Given the description of an element on the screen output the (x, y) to click on. 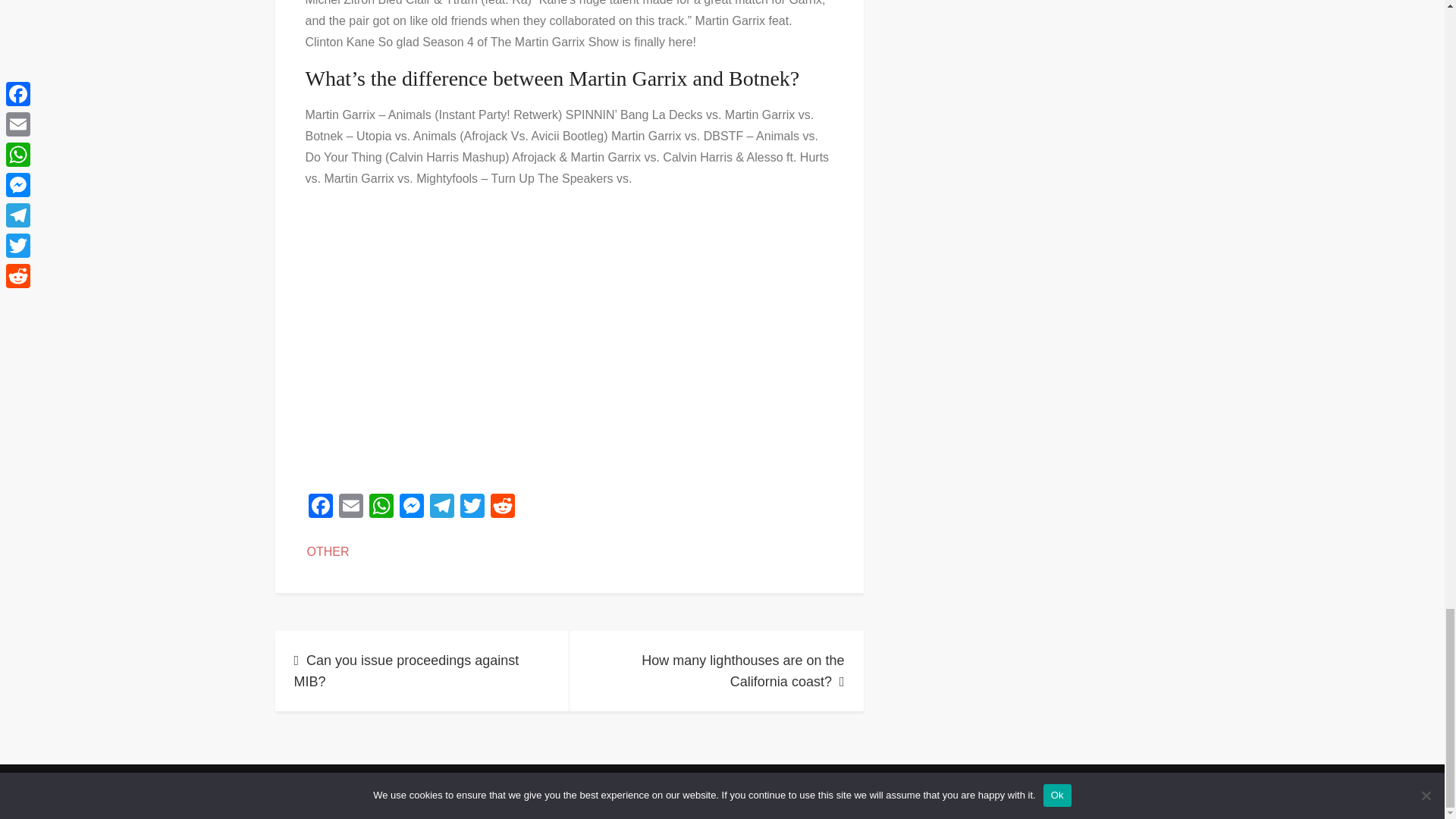
OTHER (327, 551)
Reddit (501, 507)
Can you issue proceedings against MIB? (422, 670)
Twitter (471, 507)
WhatsApp (380, 507)
Email (349, 507)
How many lighthouses are on the California coast? (716, 670)
Reddit (501, 507)
Telegram (441, 507)
Sensational Theme (858, 788)
Facebook (319, 507)
Facebook (319, 507)
WhatsApp (380, 507)
Email (349, 507)
Messenger (411, 507)
